Given the description of an element on the screen output the (x, y) to click on. 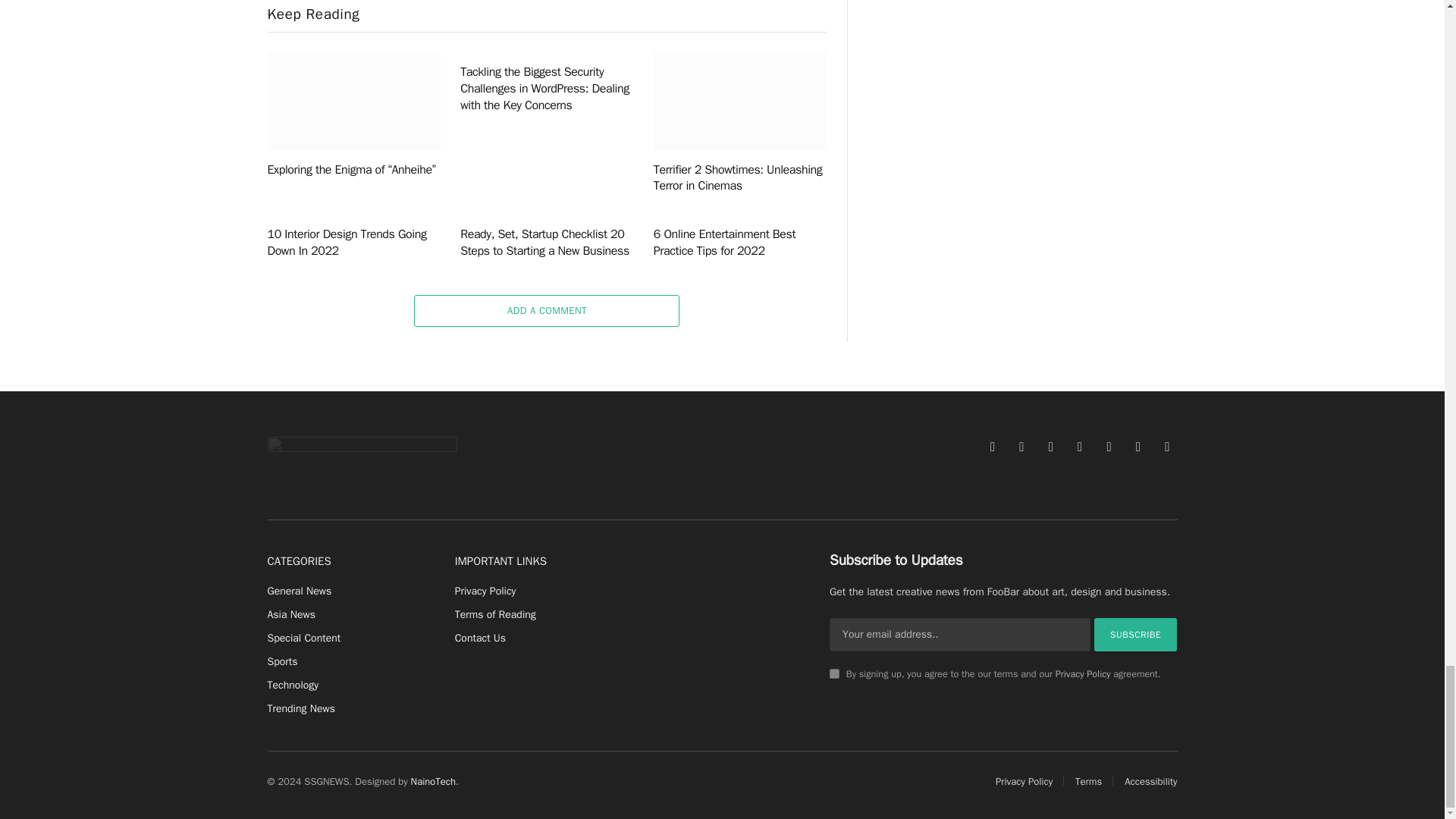
on (834, 673)
Subscribe (1135, 634)
